Given the description of an element on the screen output the (x, y) to click on. 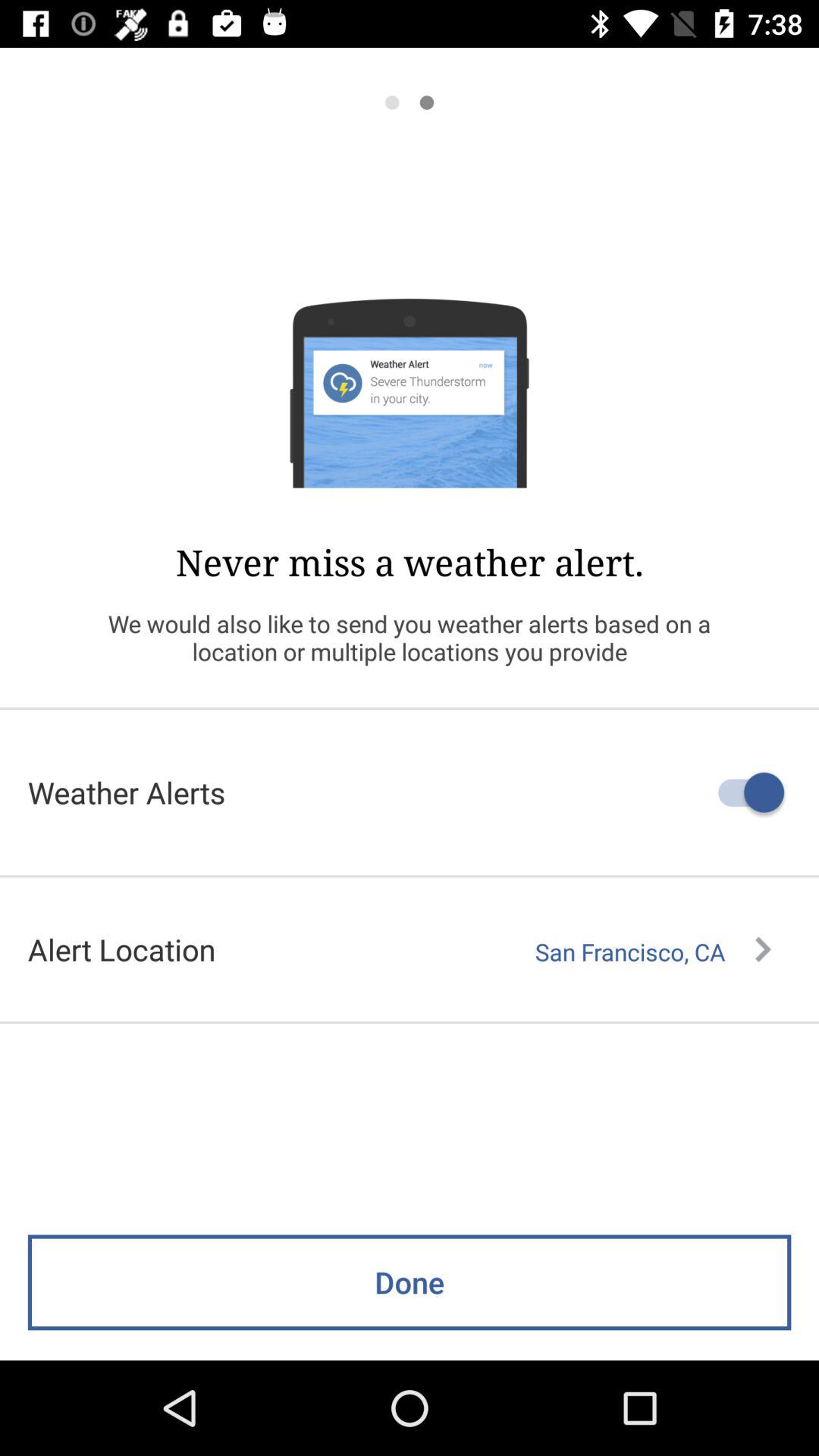
click item next to alert location item (653, 951)
